Given the description of an element on the screen output the (x, y) to click on. 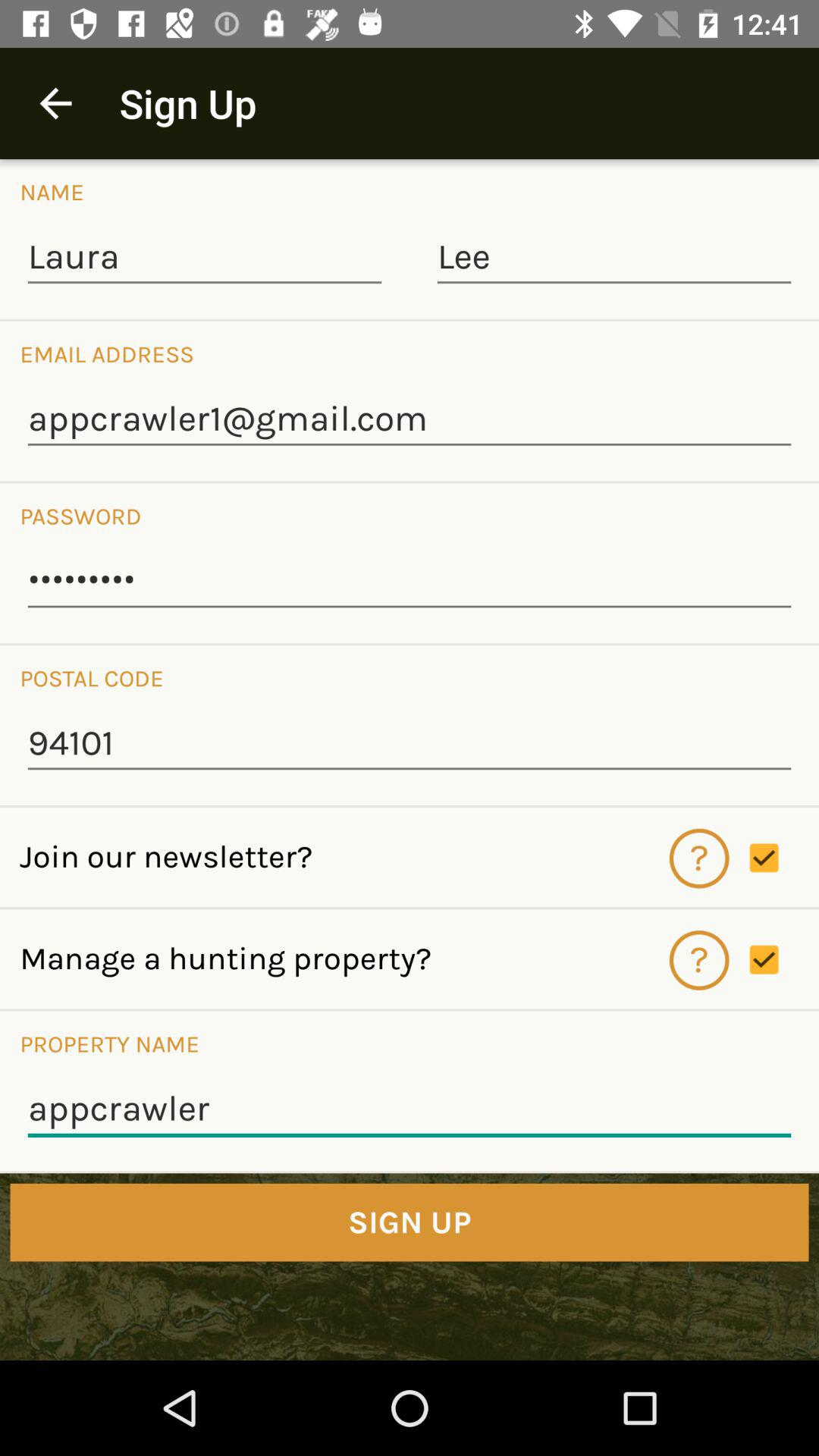
turn off the crowd3116 (409, 581)
